Given the description of an element on the screen output the (x, y) to click on. 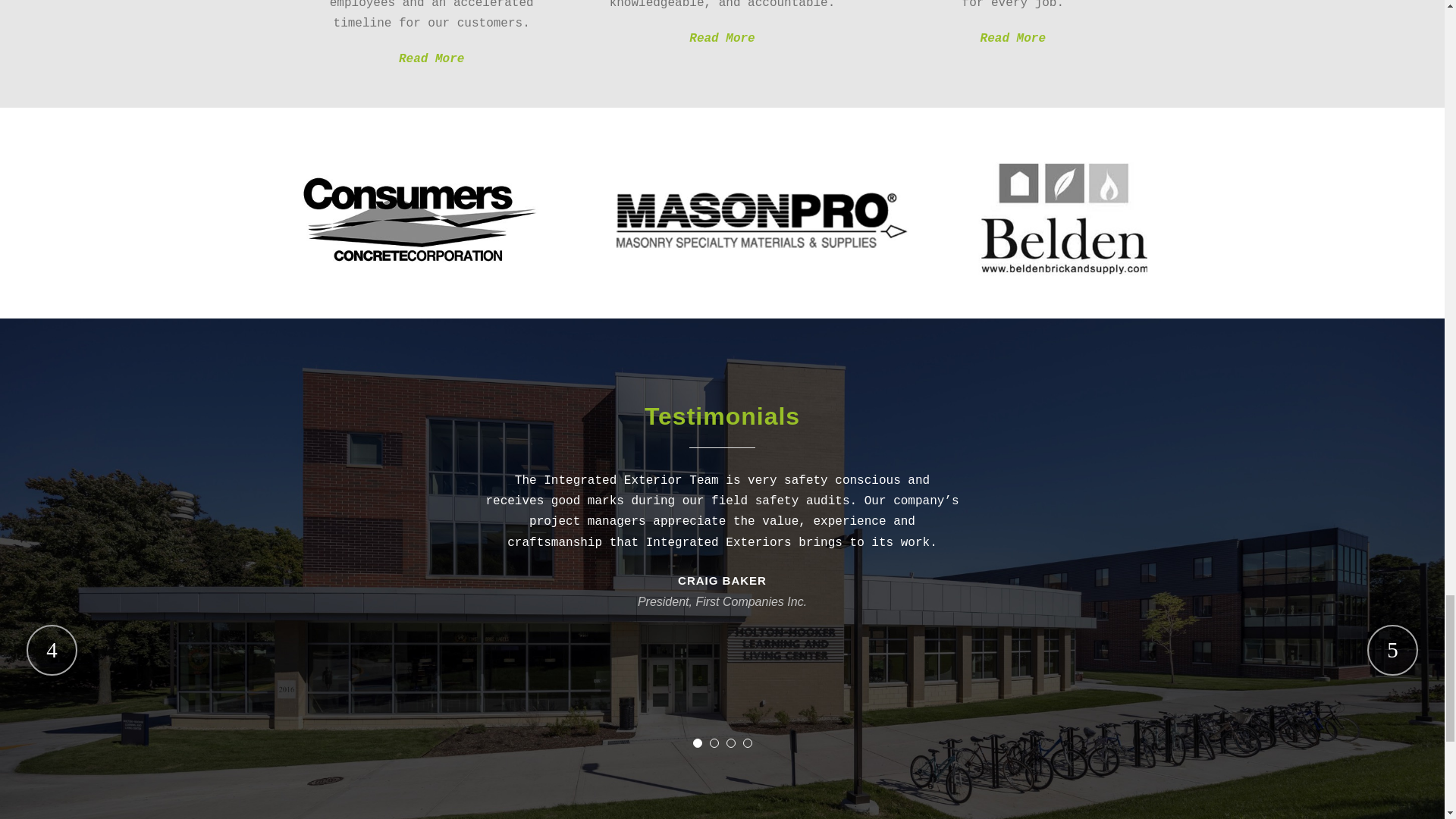
Read More (431, 59)
